Given the description of an element on the screen output the (x, y) to click on. 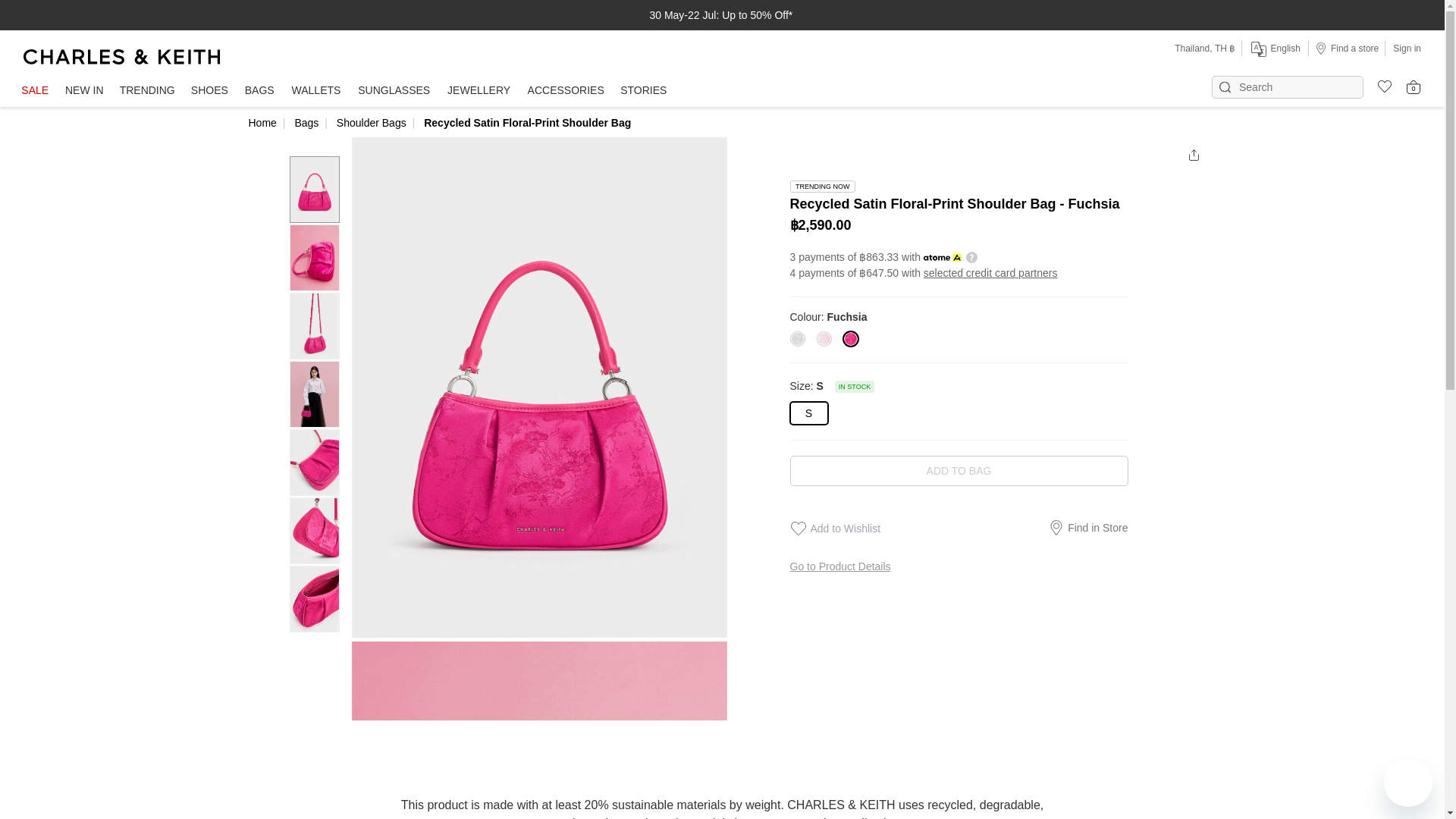
English (1274, 48)
View Cart (1413, 87)
Thailand, (1194, 48)
SALE (34, 91)
Sign in (1407, 48)
wishlist (1378, 84)
Find a store (1346, 48)
